Given the description of an element on the screen output the (x, y) to click on. 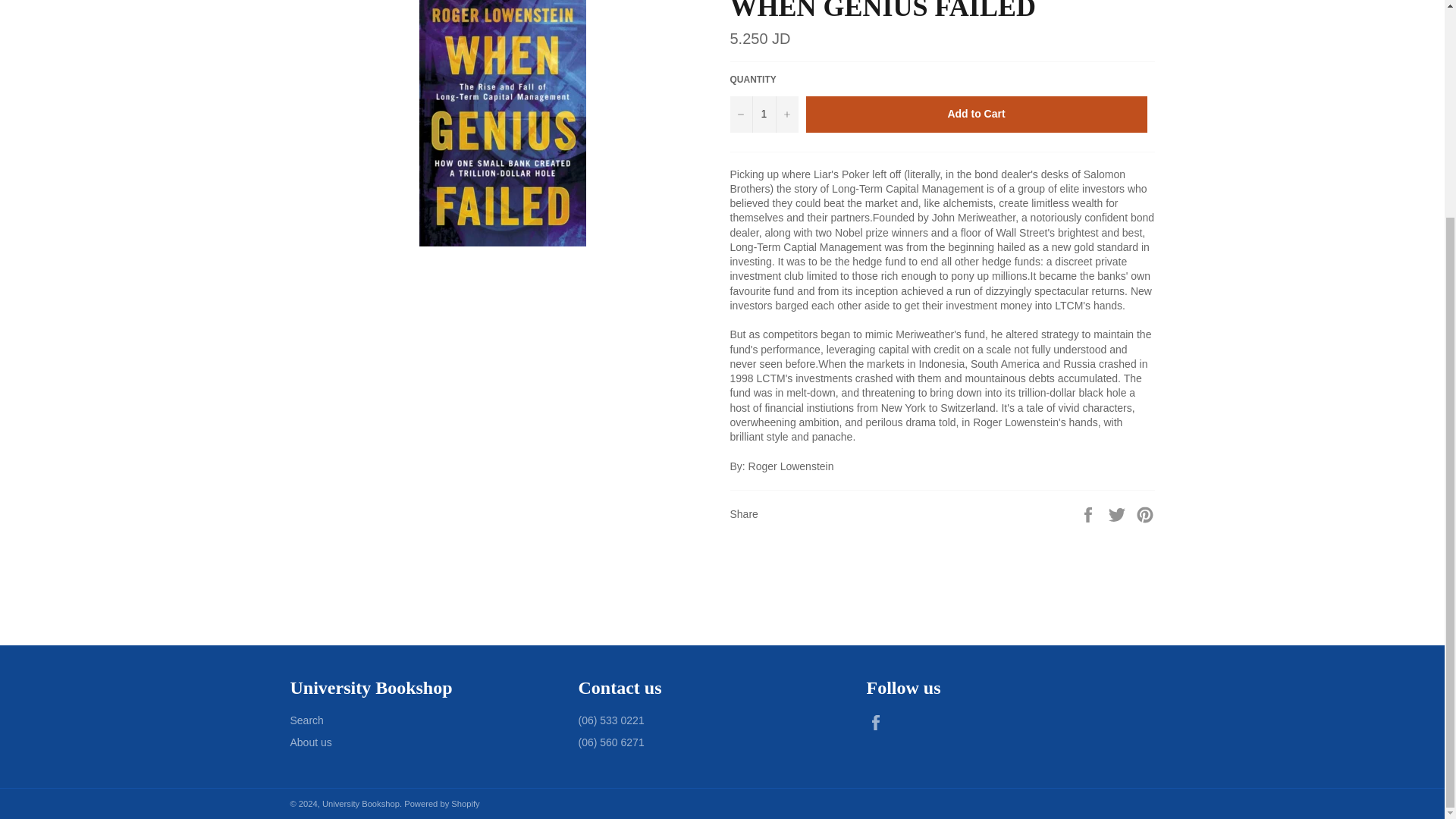
Share on Facebook (1089, 512)
Tweet on Twitter (1118, 512)
Pin on Pinterest (1144, 512)
University Bookshop on Facebook (878, 722)
1 (763, 114)
